Given the description of an element on the screen output the (x, y) to click on. 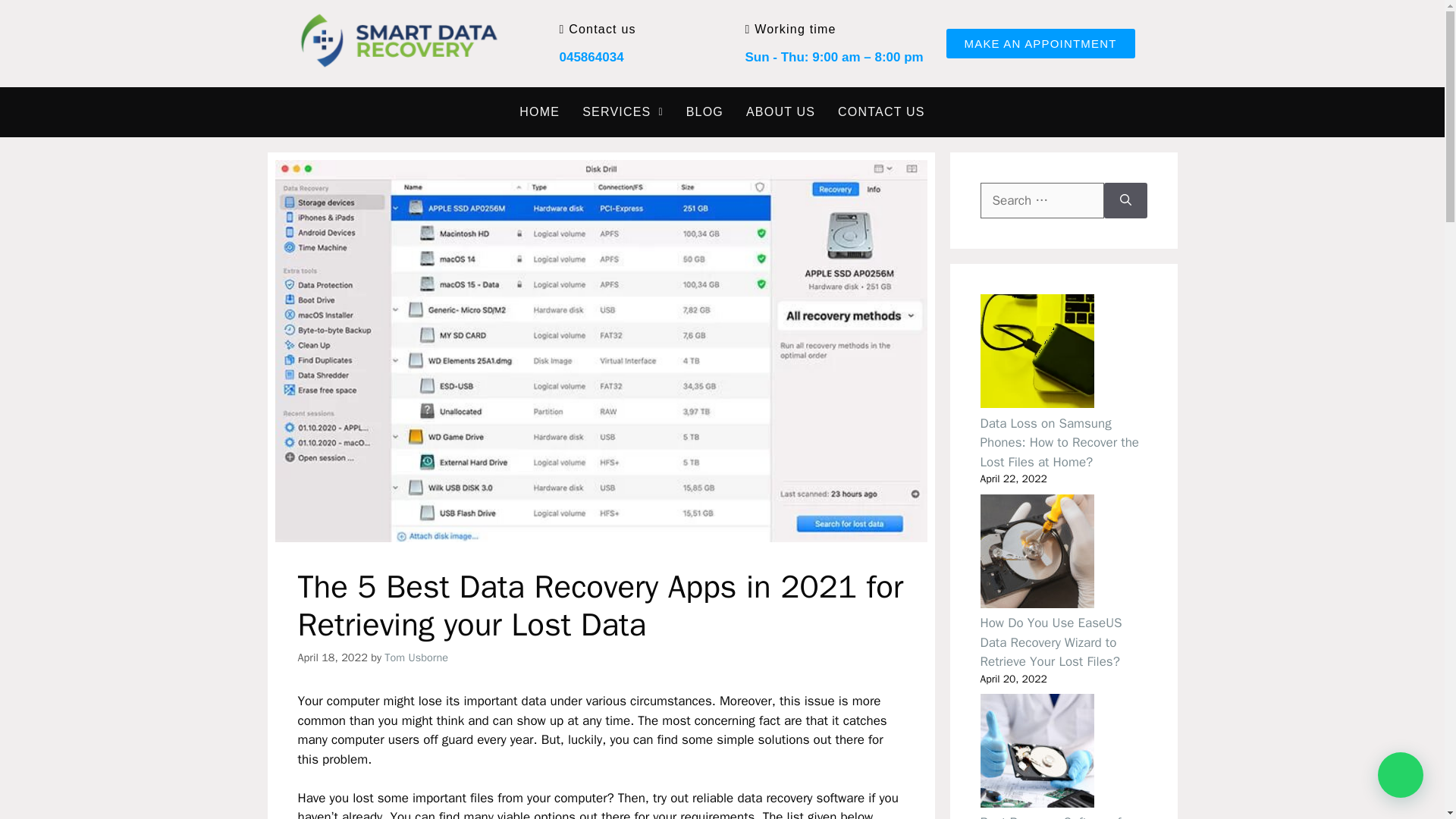
BLOG (705, 112)
CONTACT US (881, 112)
MAKE AN APPOINTMENT (1040, 43)
045864034 (591, 56)
HOME (539, 112)
Search for: (1041, 200)
SERVICES (622, 112)
View all posts by Tom Usborne (416, 657)
Tom Usborne (416, 657)
ABOUT US (781, 112)
